Given the description of an element on the screen output the (x, y) to click on. 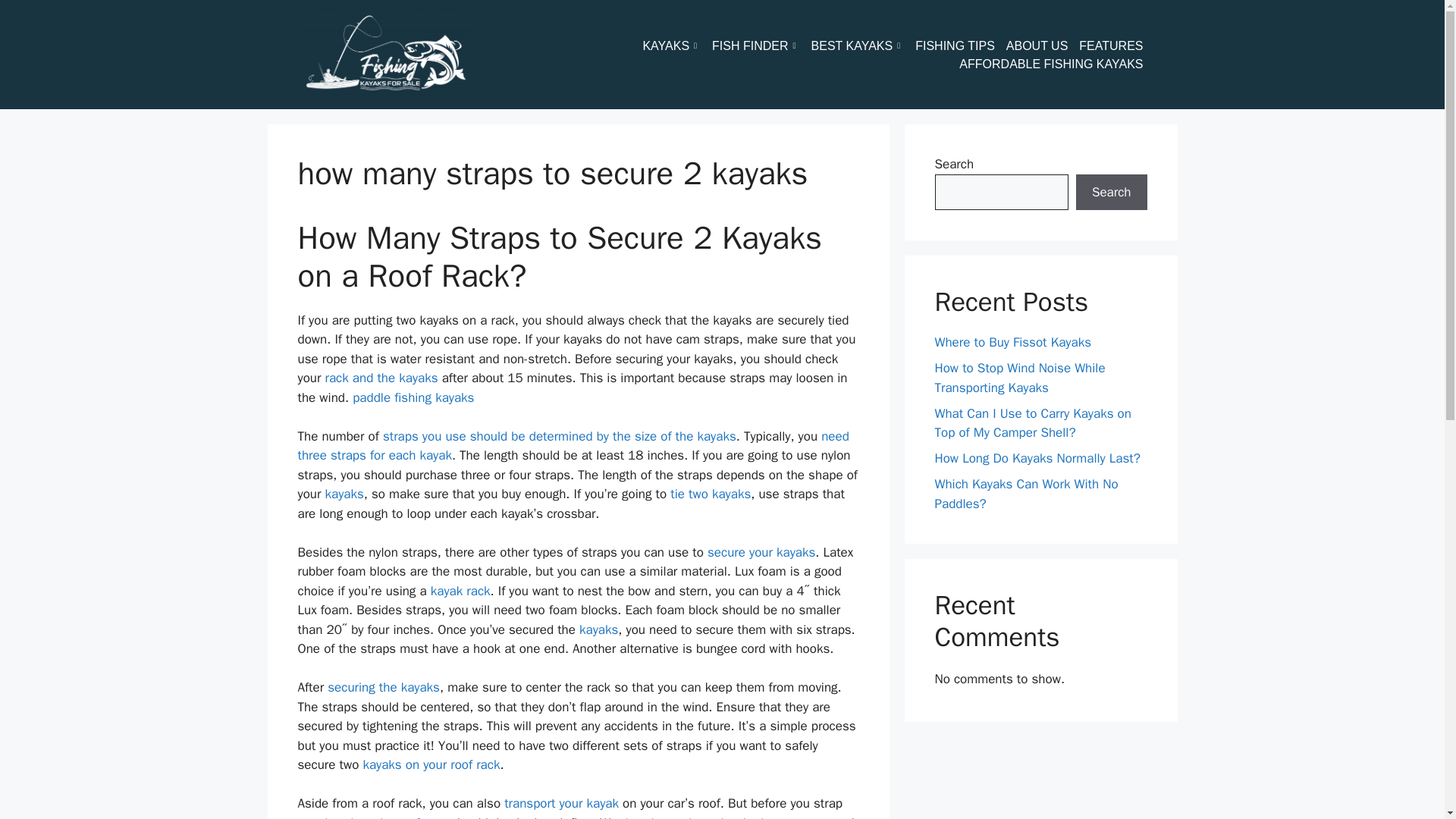
rack and the kayaks (381, 377)
need three straps for each kayak (572, 446)
FISHING TIPS (960, 45)
kayaks (343, 494)
BEST KAYAKS (862, 45)
secure your kayaks (761, 552)
paddle fishing kayaks (413, 397)
FISH FINDER (760, 45)
AFFORDABLE FISHING KAYAKS (1056, 64)
tie two kayaks (710, 494)
ABOUT US (1043, 45)
FEATURES (1116, 45)
KAYAKS (676, 45)
